Given the description of an element on the screen output the (x, y) to click on. 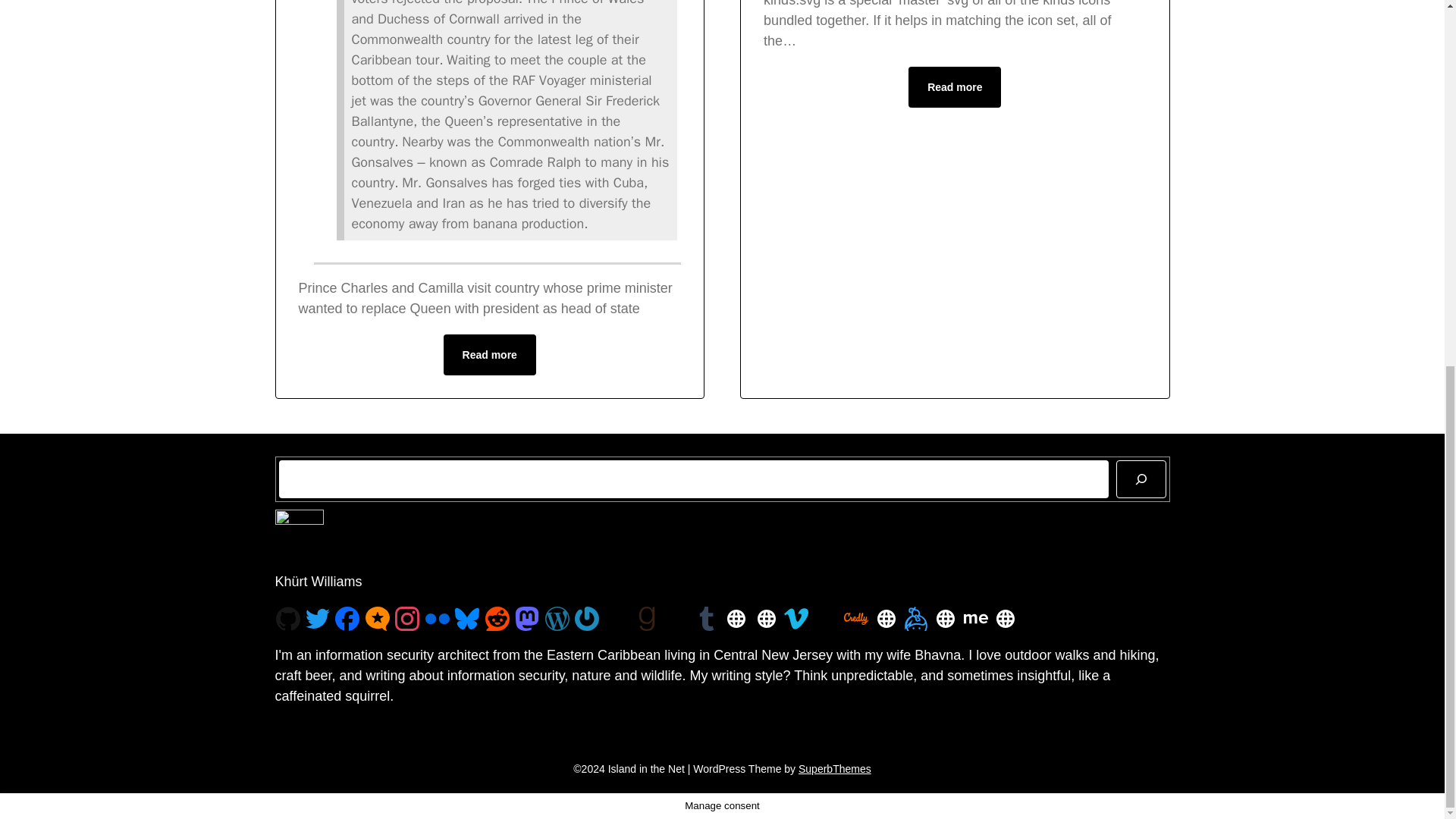
Instagram (406, 618)
VSCO (675, 618)
Twitter (317, 618)
Tumblr (706, 618)
Facebook (346, 617)
Mastodon (526, 618)
Facebook (346, 618)
Bluesky (466, 618)
Reddit (496, 618)
Goodreads (646, 618)
